Given the description of an element on the screen output the (x, y) to click on. 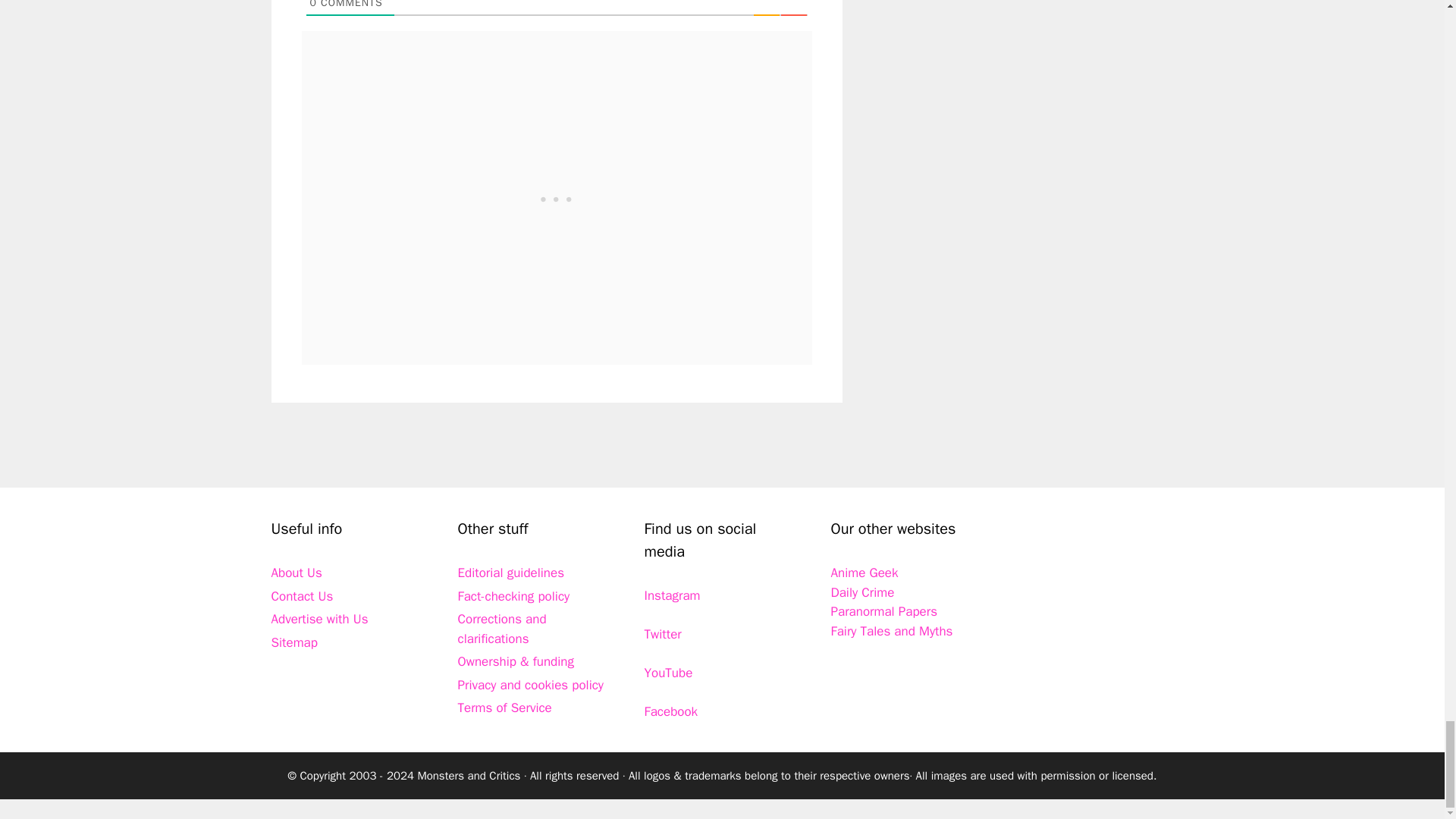
Terms of Service (504, 707)
Sitemap (293, 642)
Twitter (663, 634)
Fact-checking policy (514, 596)
Advertise with Us (319, 618)
Privacy and cookies policy (531, 684)
About Us (295, 572)
Contact Us (301, 596)
Corrections and clarifications (502, 628)
Editorial guidelines (511, 572)
Instagram (672, 595)
